Given the description of an element on the screen output the (x, y) to click on. 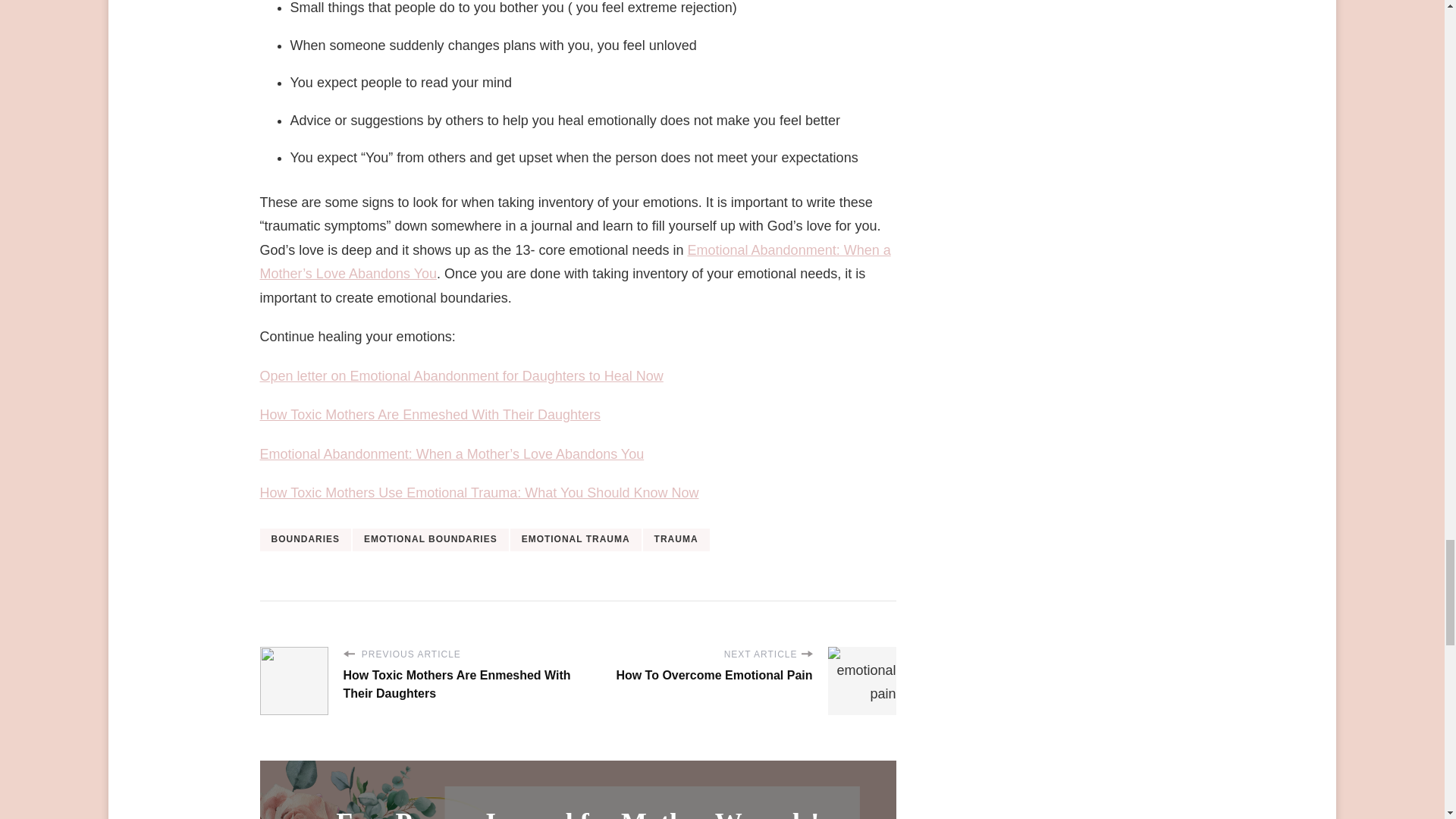
How Toxic Mothers Are Enmeshed With Their Daughters (429, 414)
